Given the description of an element on the screen output the (x, y) to click on. 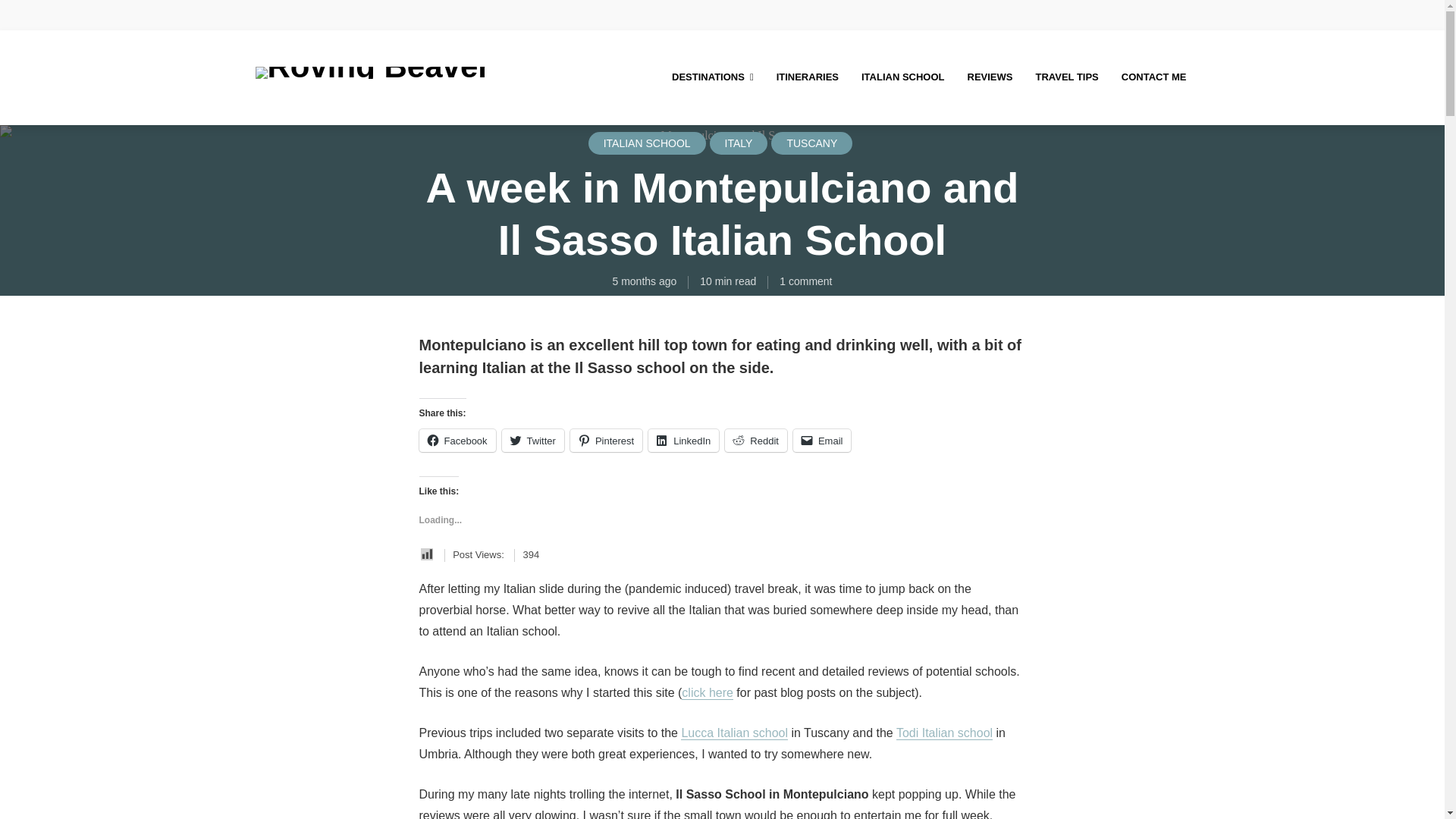
Click to share on Reddit (756, 440)
ITINERARIES (807, 77)
1 comment (804, 281)
CONTACT ME (1153, 77)
TRAVEL TIPS (1066, 77)
Click to share on LinkedIn (683, 440)
DESTINATIONS (712, 77)
REVIEWS (990, 77)
Click to share on Pinterest (606, 440)
ITALIAN SCHOOL (902, 77)
